Given the description of an element on the screen output the (x, y) to click on. 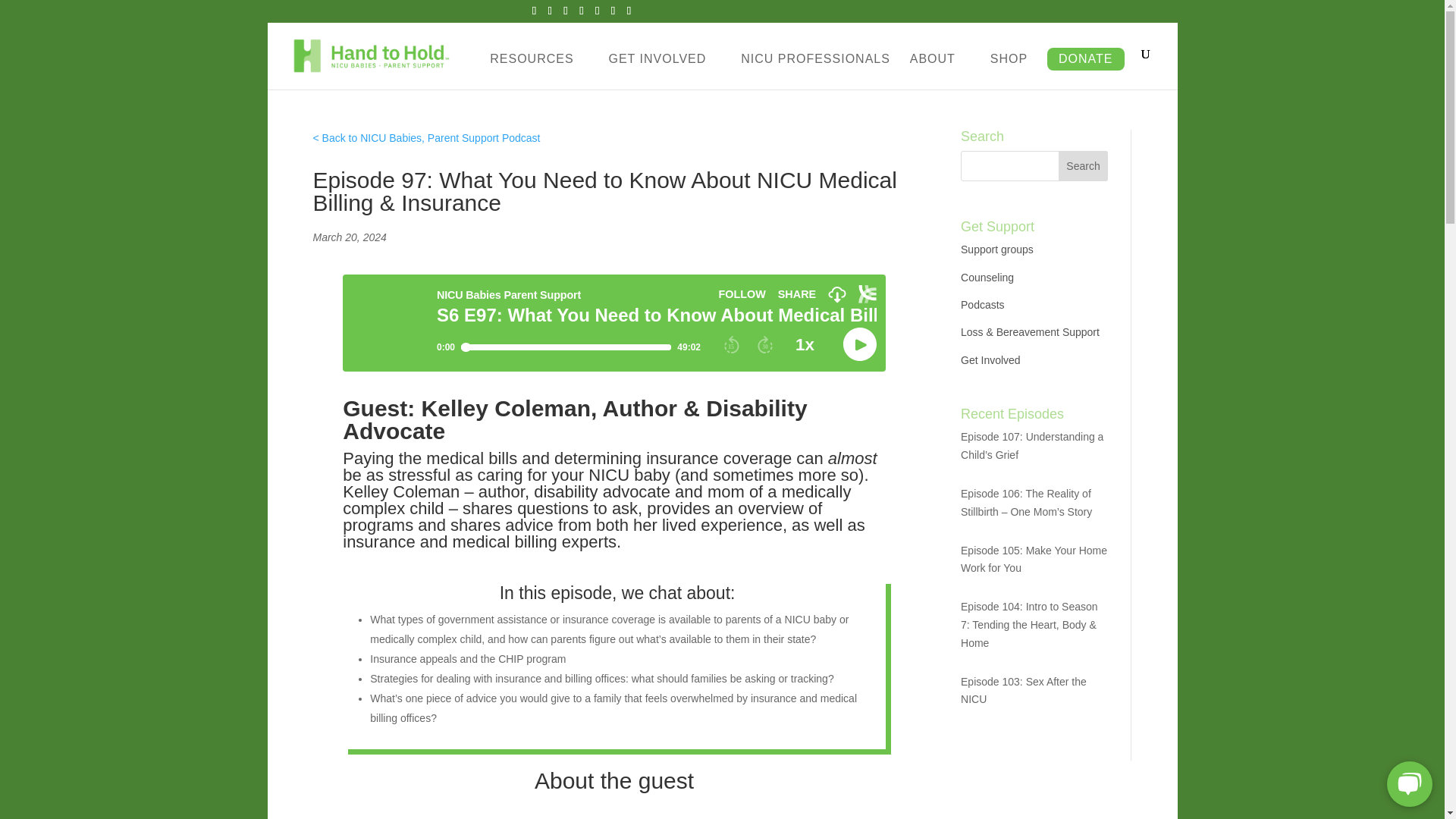
ABOUT (940, 71)
NICU PROFESSIONALS (815, 71)
Search (1083, 165)
DONATE (1085, 58)
Embed Player (613, 322)
SHOP (1008, 71)
RESOURCES (538, 71)
GET INVOLVED (664, 71)
